Given the description of an element on the screen output the (x, y) to click on. 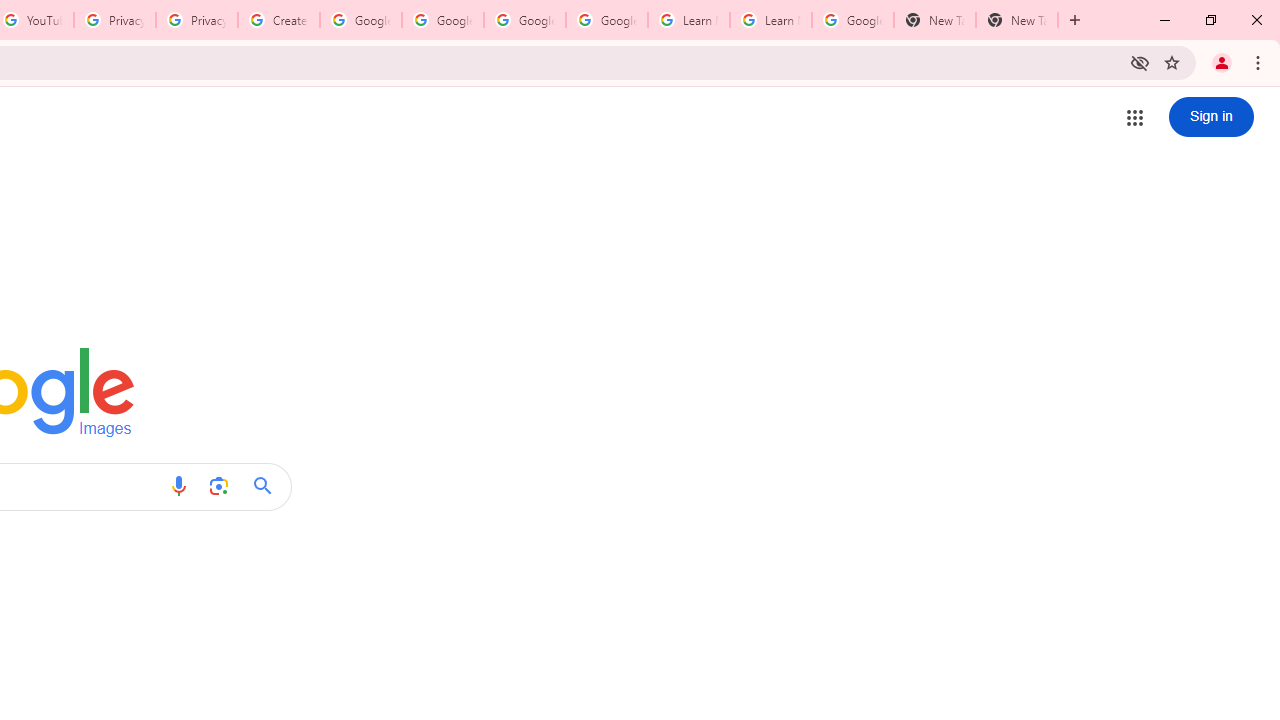
Google Search (268, 485)
Google Account Help (360, 20)
New Tab (1016, 20)
Google Account (852, 20)
Create your Google Account (278, 20)
